Given the description of an element on the screen output the (x, y) to click on. 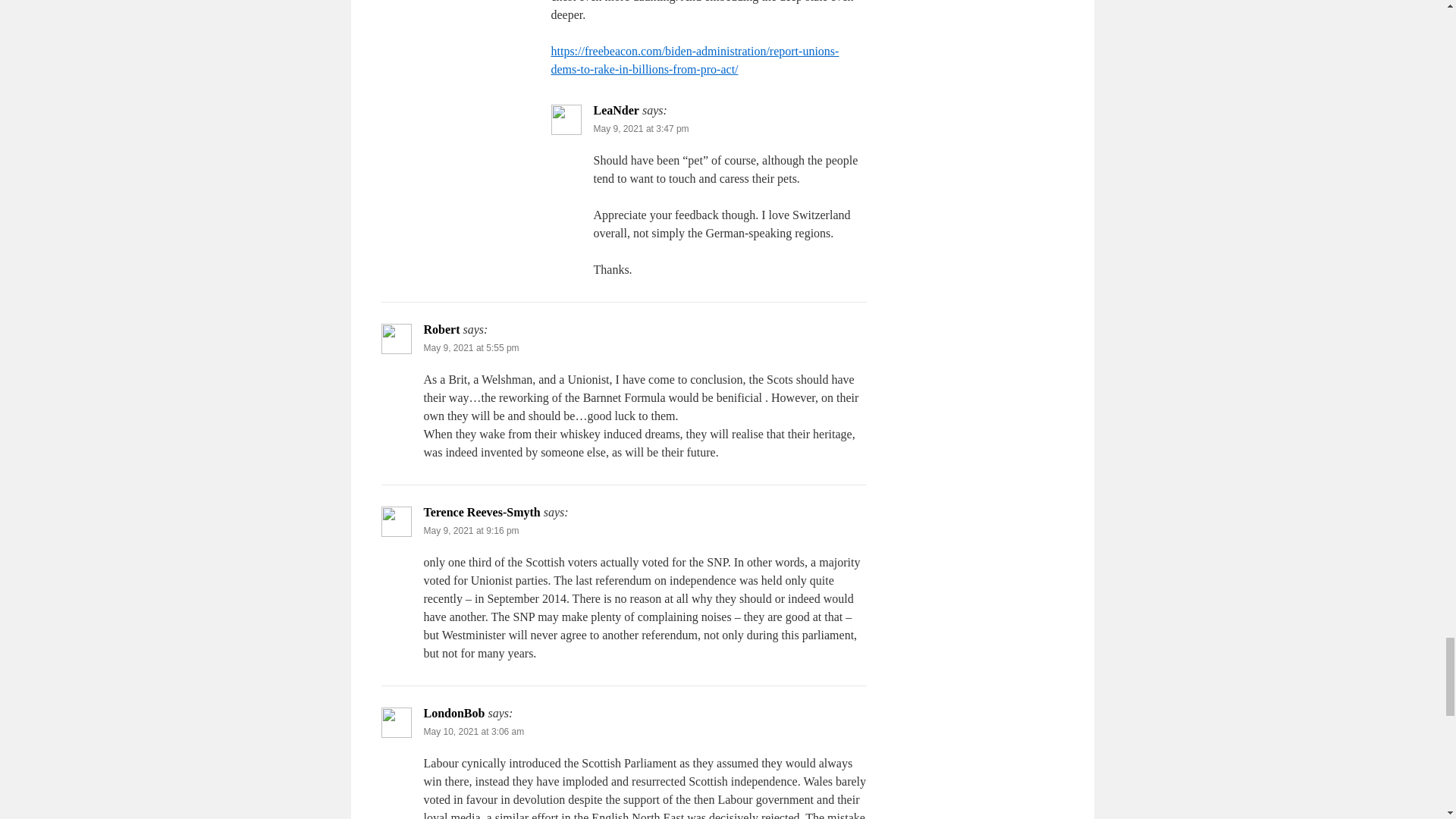
May 9, 2021 at 9:16 pm (470, 530)
May 9, 2021 at 5:55 pm (470, 347)
May 10, 2021 at 3:06 am (473, 731)
May 9, 2021 at 3:47 pm (640, 128)
